Given the description of an element on the screen output the (x, y) to click on. 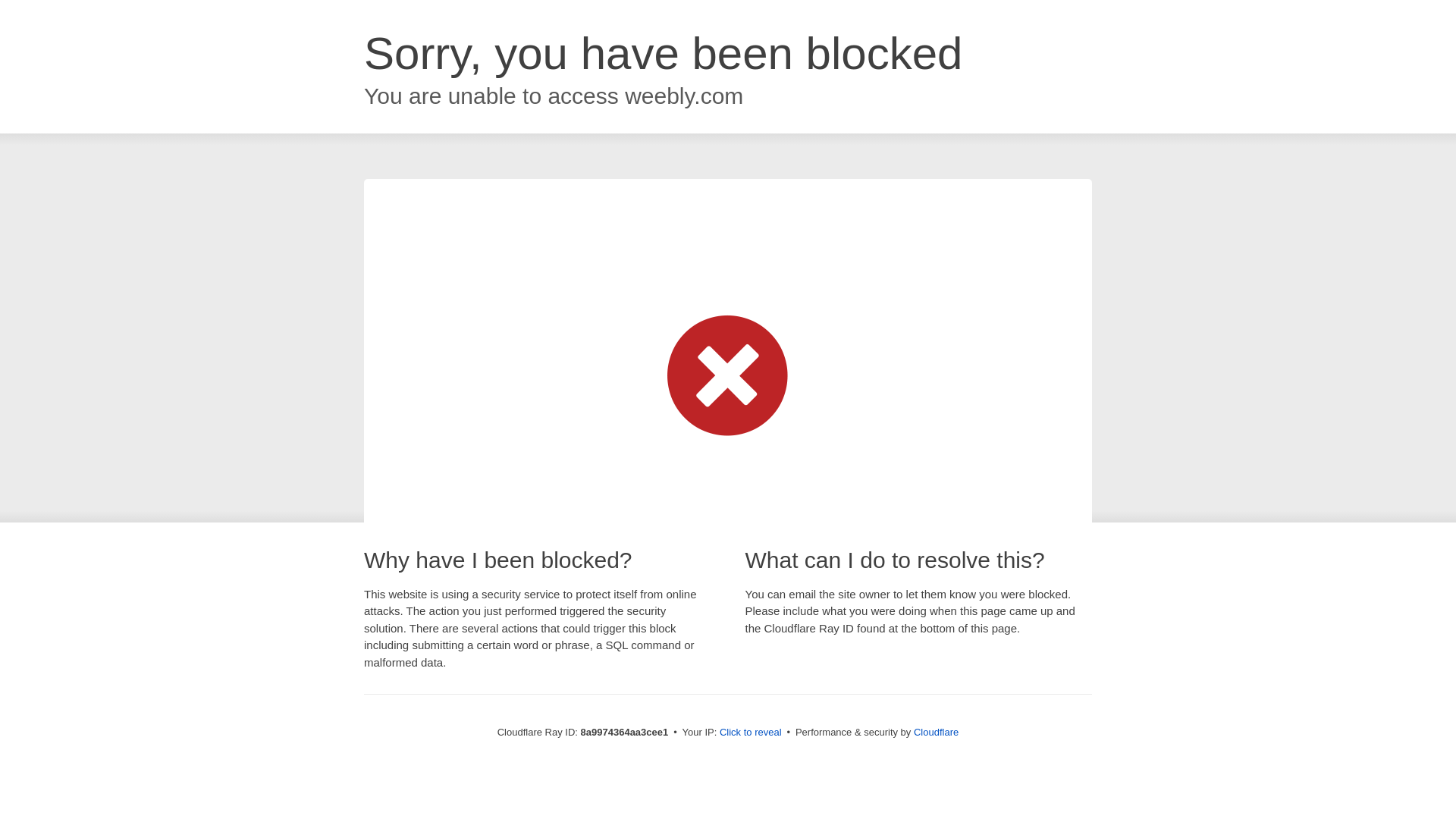
Click to reveal (750, 732)
Cloudflare (936, 731)
